Given the description of an element on the screen output the (x, y) to click on. 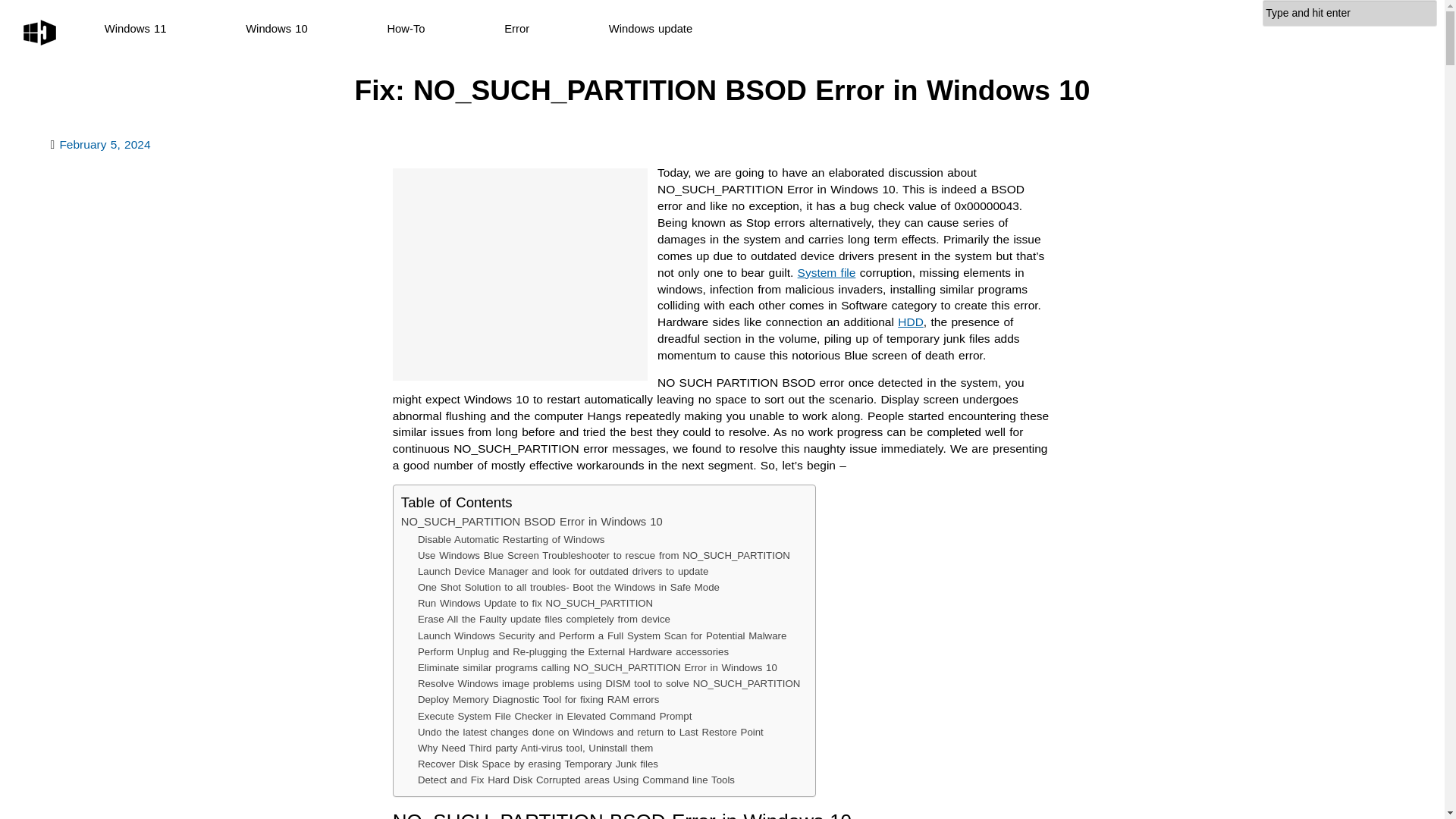
HDD (910, 321)
Windows 11 (136, 28)
February 5, 2024 (104, 144)
Deploy Memory Diagnostic Tool for fixing RAM errors (538, 699)
Erase All the Faulty update files completely from device (543, 618)
Disable Automatic Restarting of Windows (510, 539)
Recover Disk Space by erasing Temporary Junk files (537, 763)
Disable Automatic Restarting of Windows (510, 539)
